Given the description of an element on the screen output the (x, y) to click on. 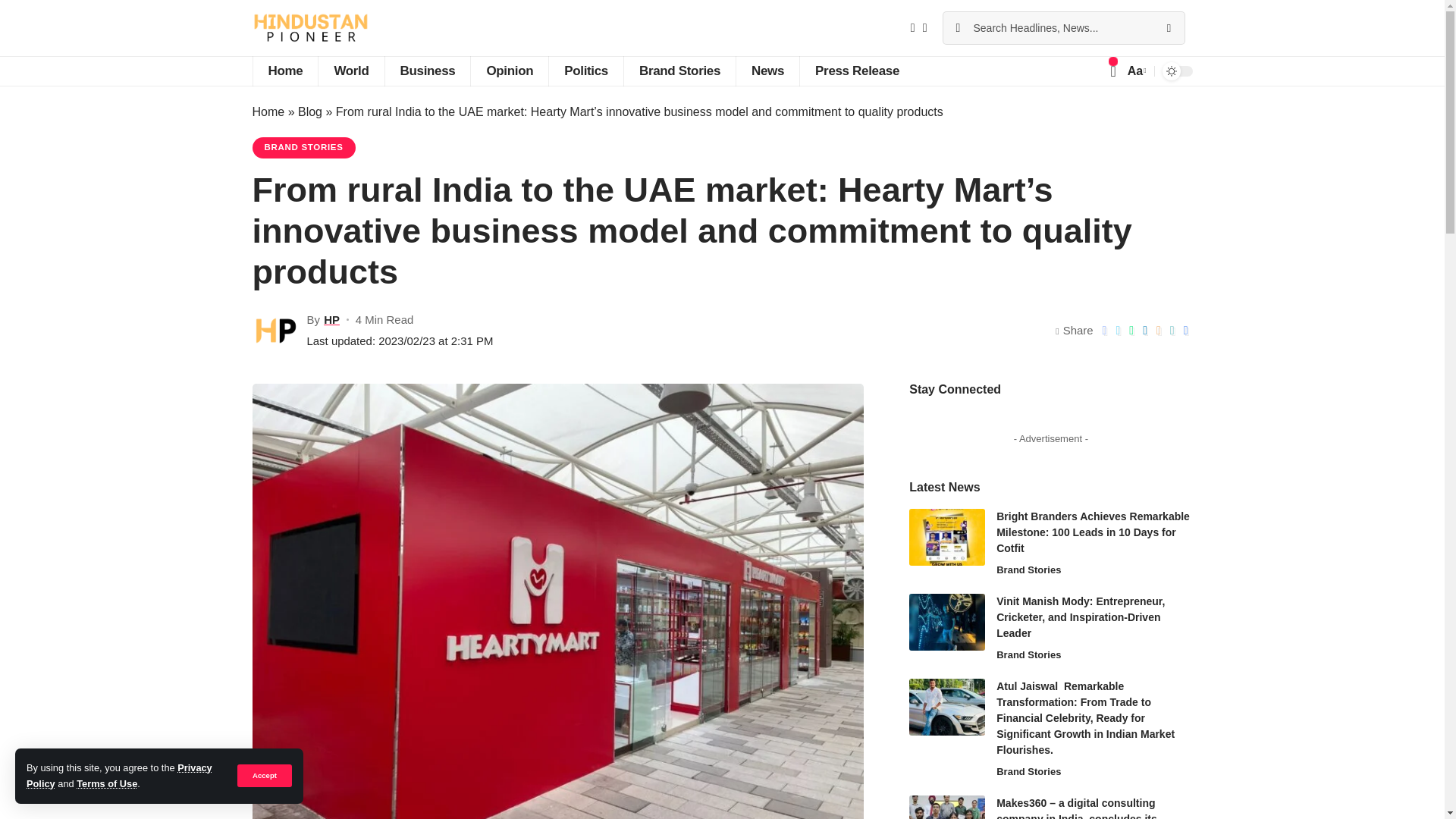
World (350, 71)
News (767, 71)
Terms of Use (106, 783)
Home (284, 71)
Press Release (856, 71)
Search (1168, 28)
Hindustan Pioneer (309, 28)
Business (427, 71)
Privacy Policy (119, 775)
Politics (585, 71)
Accept (264, 775)
Aa (1135, 70)
Brand Stories (679, 71)
